Given the description of an element on the screen output the (x, y) to click on. 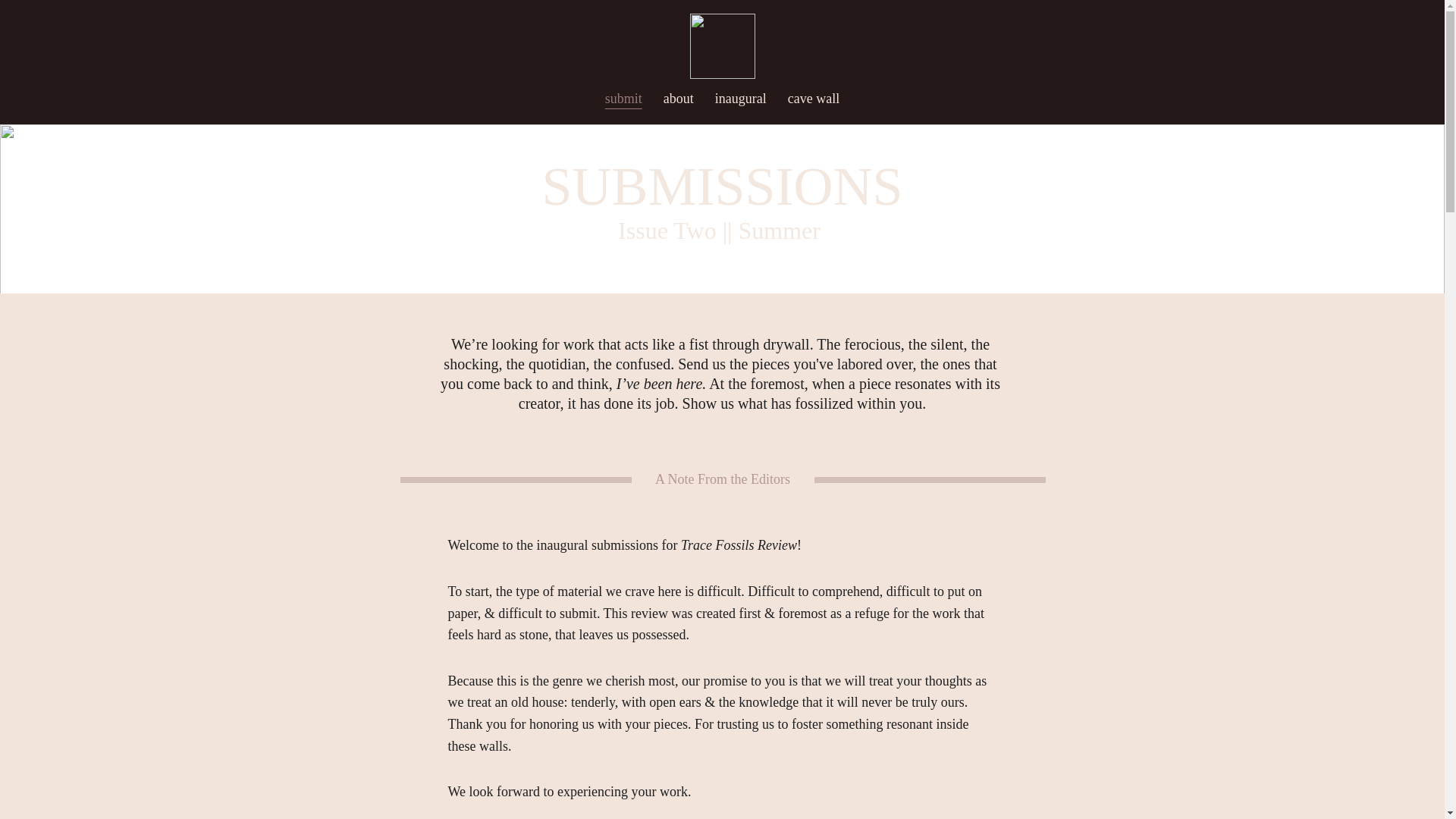
cave wall (813, 98)
about (678, 98)
submit (623, 98)
inaugural (740, 98)
